Given the description of an element on the screen output the (x, y) to click on. 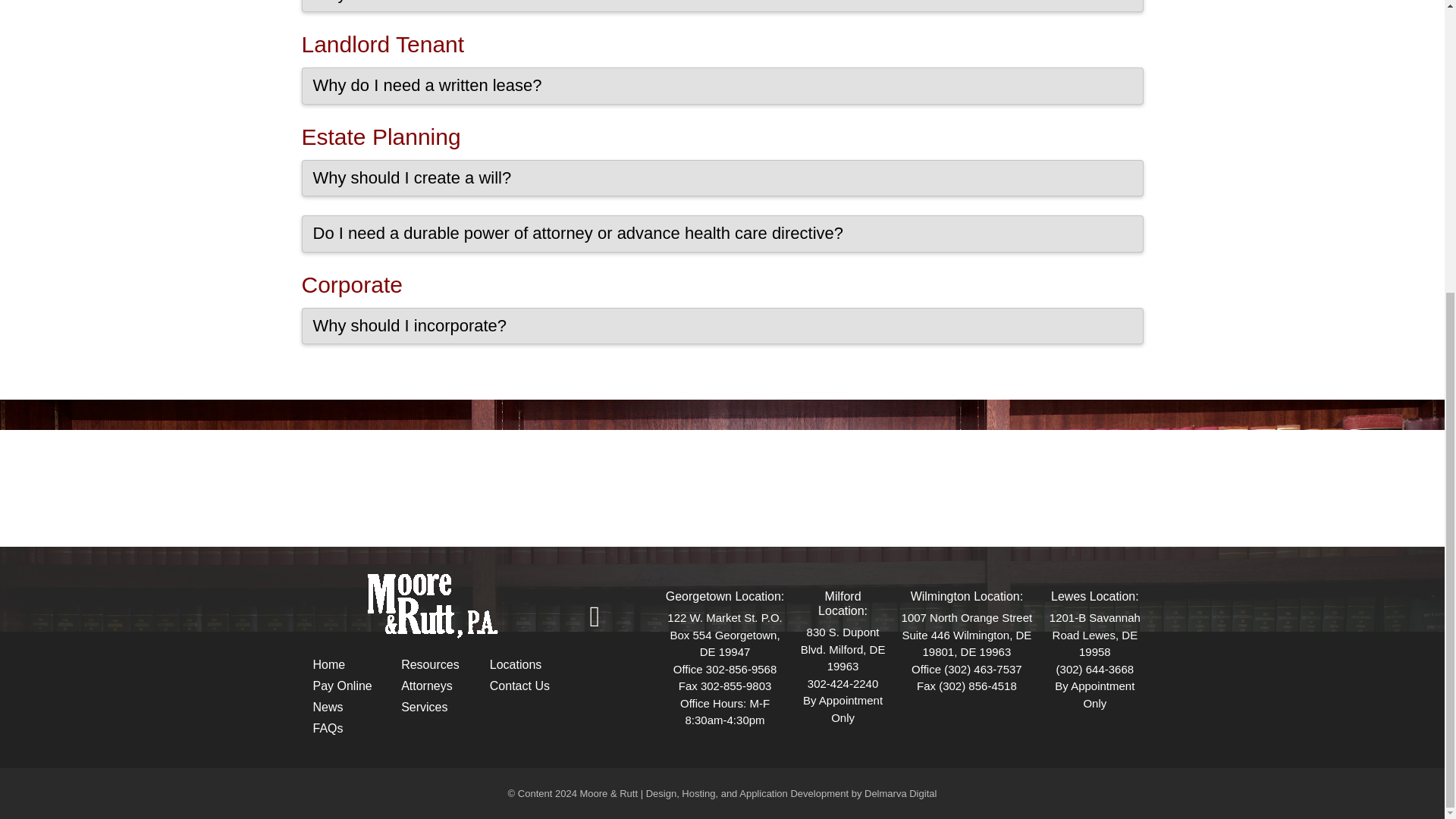
Services (423, 707)
Pay Online (342, 685)
Why do I need a written real estate contract? (721, 6)
Locations (515, 664)
Delmarva Digital (900, 793)
Why should I create a will? (721, 177)
Home (329, 664)
Attorneys (426, 685)
FAQs (327, 727)
